Given the description of an element on the screen output the (x, y) to click on. 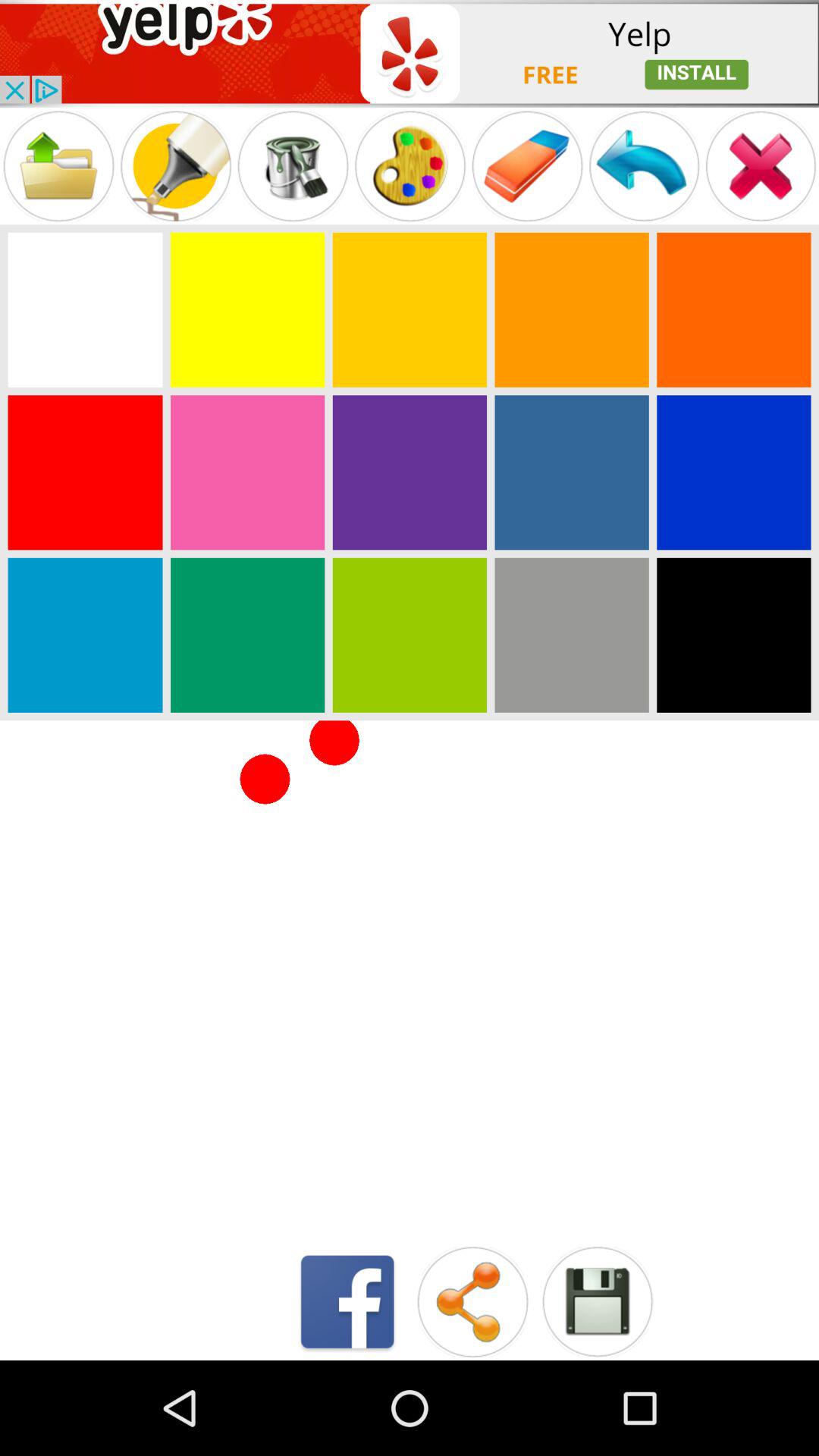
orange colour option (733, 309)
